Given the description of an element on the screen output the (x, y) to click on. 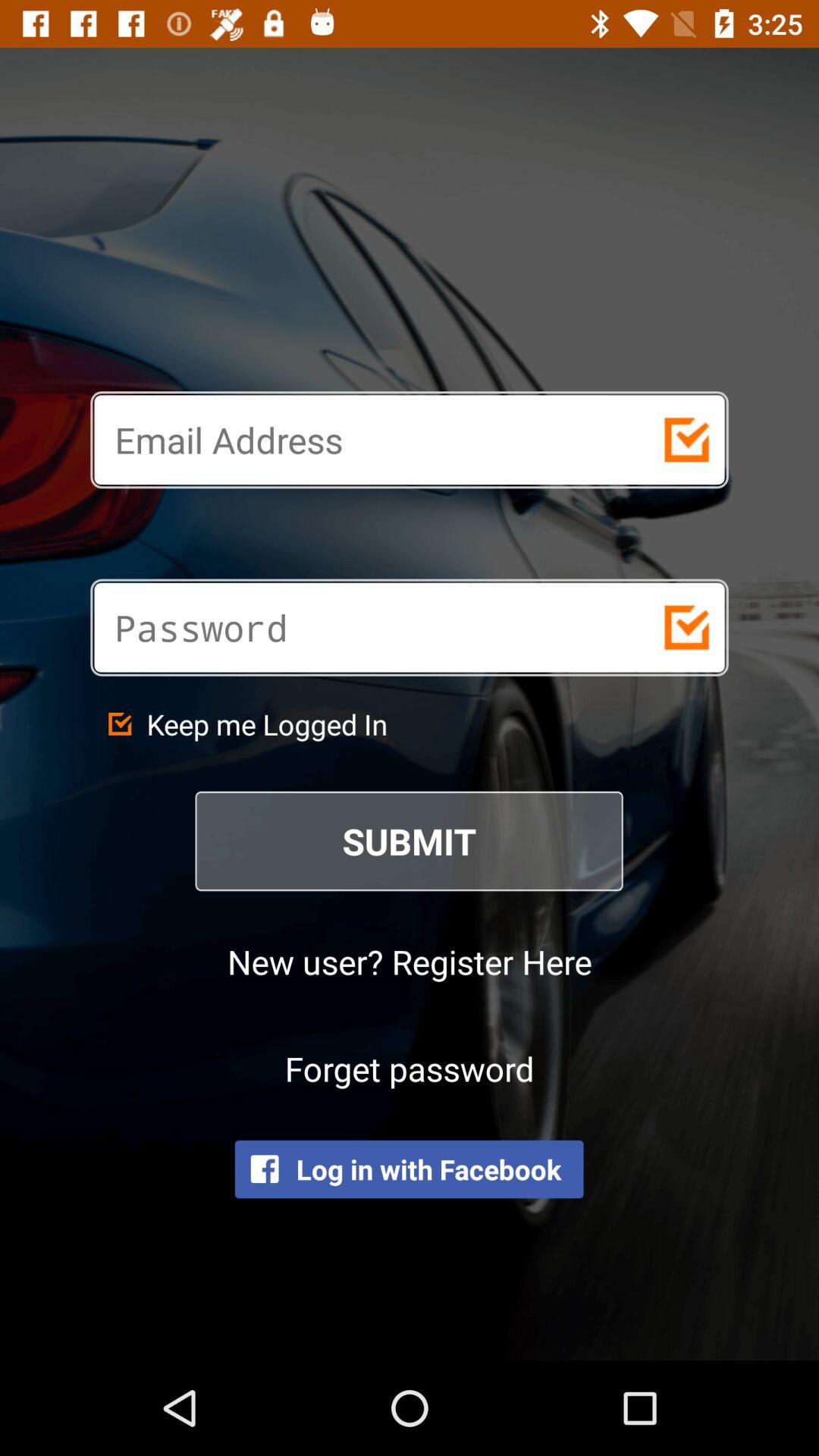
turn off icon below the keep me logged icon (409, 840)
